Given the description of an element on the screen output the (x, y) to click on. 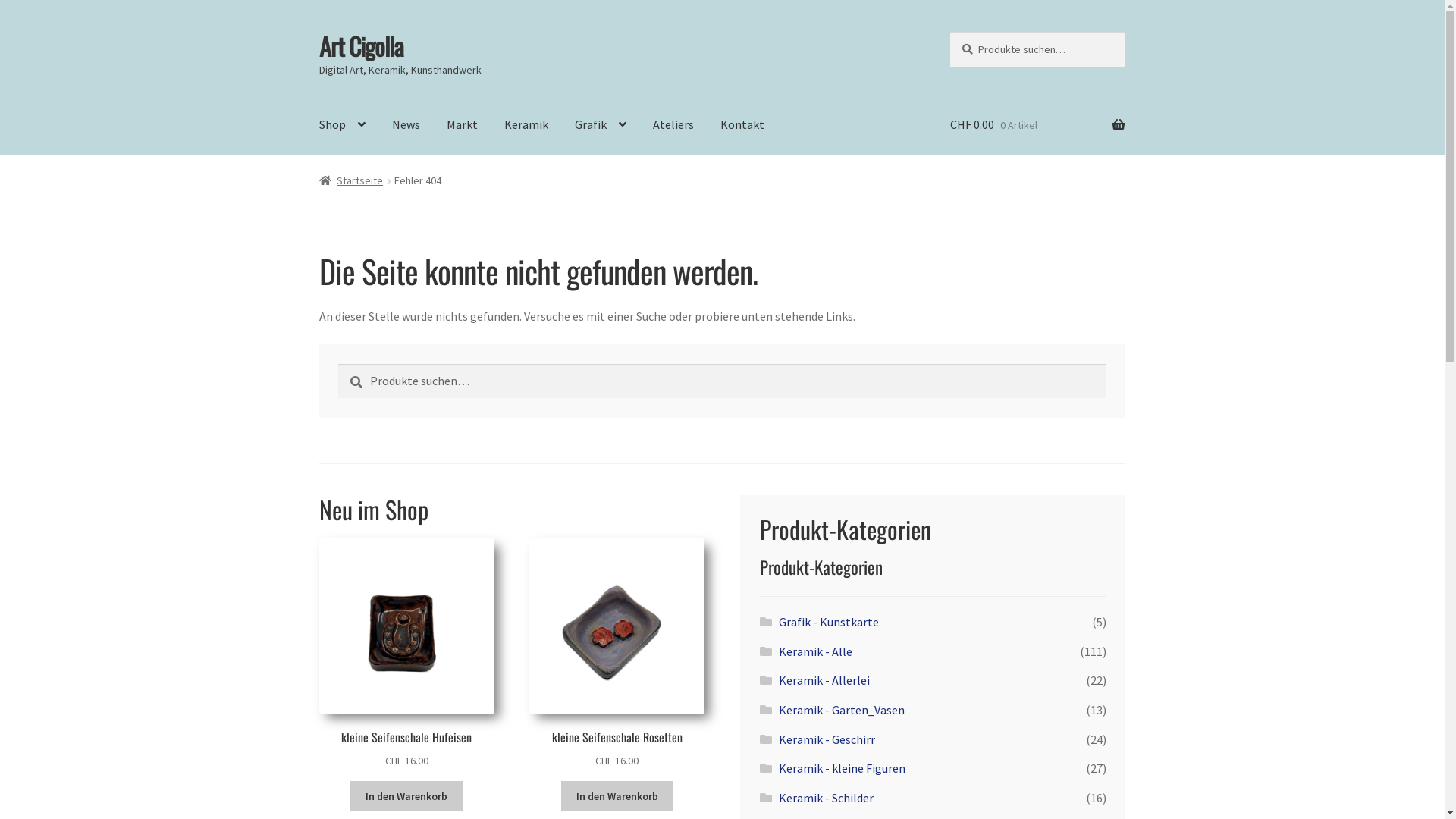
Startseite Element type: text (351, 180)
Shop Element type: text (342, 124)
Suche Element type: text (337, 363)
Kontakt Element type: text (742, 124)
kleine Seifenschale Hufeisen
CHF 16.00 Element type: text (406, 653)
Art Cigolla Element type: text (361, 45)
Keramik Element type: text (526, 124)
Keramik - Geschirr Element type: text (826, 738)
Grafik - Kunstkarte Element type: text (828, 621)
kleine Seifenschale Rosetten
CHF 16.00 Element type: text (616, 653)
News Element type: text (405, 124)
Keramik - Schilder Element type: text (825, 797)
Ateliers Element type: text (673, 124)
In den Warenkorb Element type: text (617, 796)
Grafik Element type: text (600, 124)
Suche Element type: text (949, 31)
Markt Element type: text (461, 124)
Zur Navigation springen Element type: text (318, 31)
Keramik - Garten_Vasen Element type: text (841, 709)
CHF 0.00 0 Artikel Element type: text (1037, 124)
In den Warenkorb Element type: text (406, 796)
Keramik - Alle Element type: text (815, 650)
Keramik - kleine Figuren Element type: text (841, 767)
Keramik - Allerlei Element type: text (823, 679)
